Given the description of an element on the screen output the (x, y) to click on. 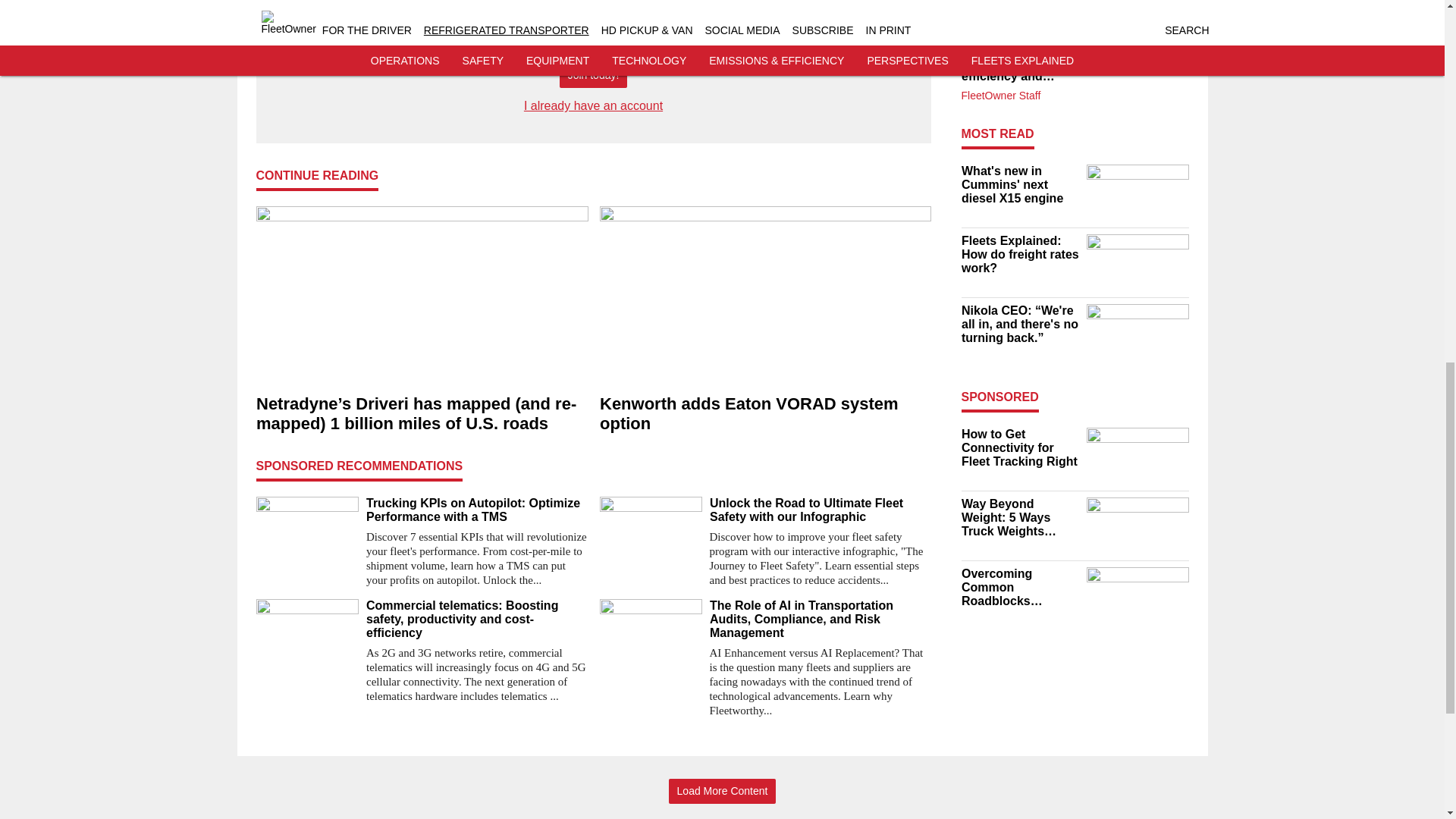
Trucking KPIs on Autopilot: Optimize Performance with a TMS (476, 510)
Kenworth adds Eaton VORAD system option (764, 413)
I already have an account (593, 105)
Join today! (593, 75)
